Given the description of an element on the screen output the (x, y) to click on. 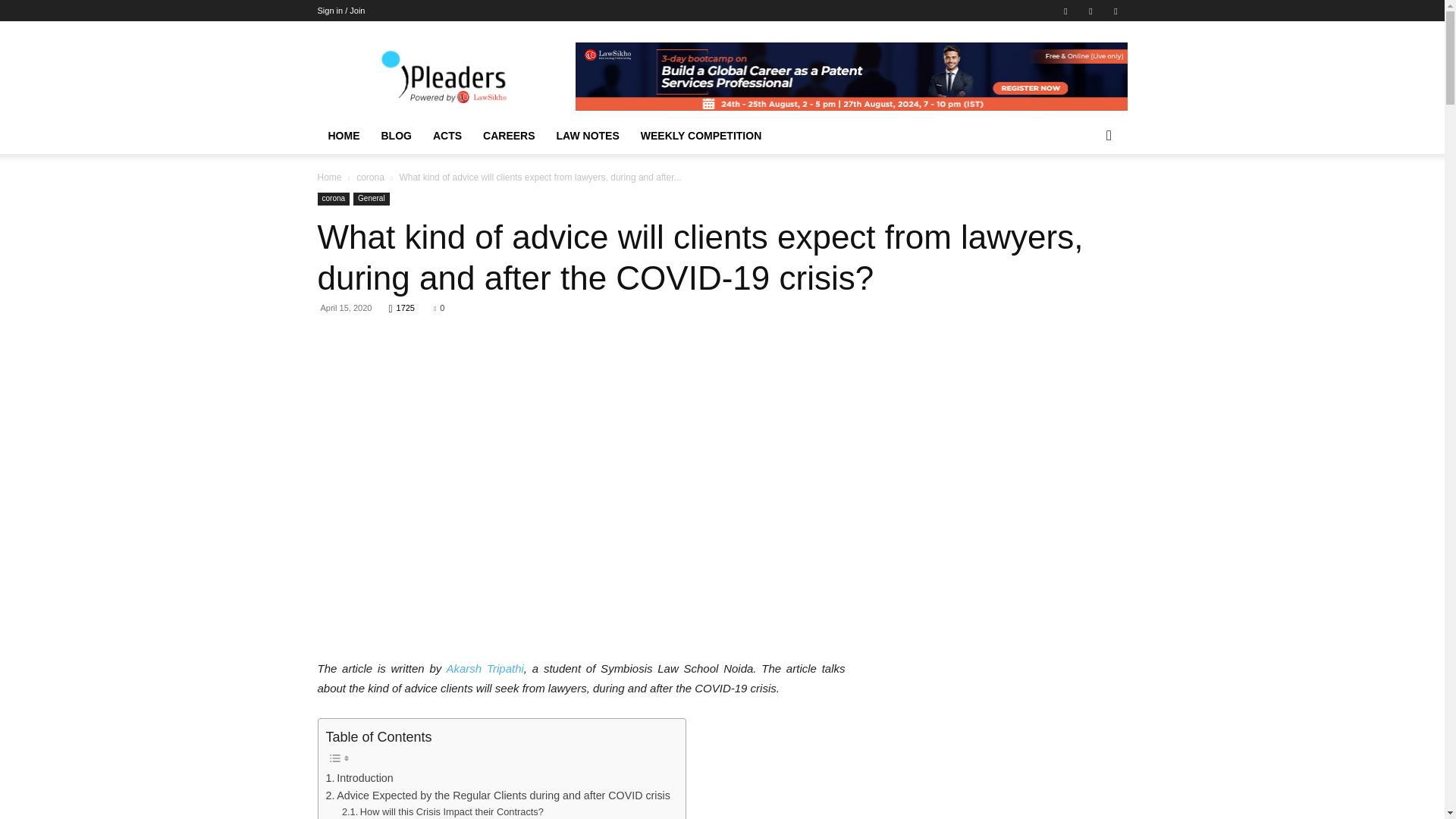
Facebook (1065, 10)
View all posts in corona (370, 176)
RSS (1090, 10)
Twitter (1114, 10)
